Given the description of an element on the screen output the (x, y) to click on. 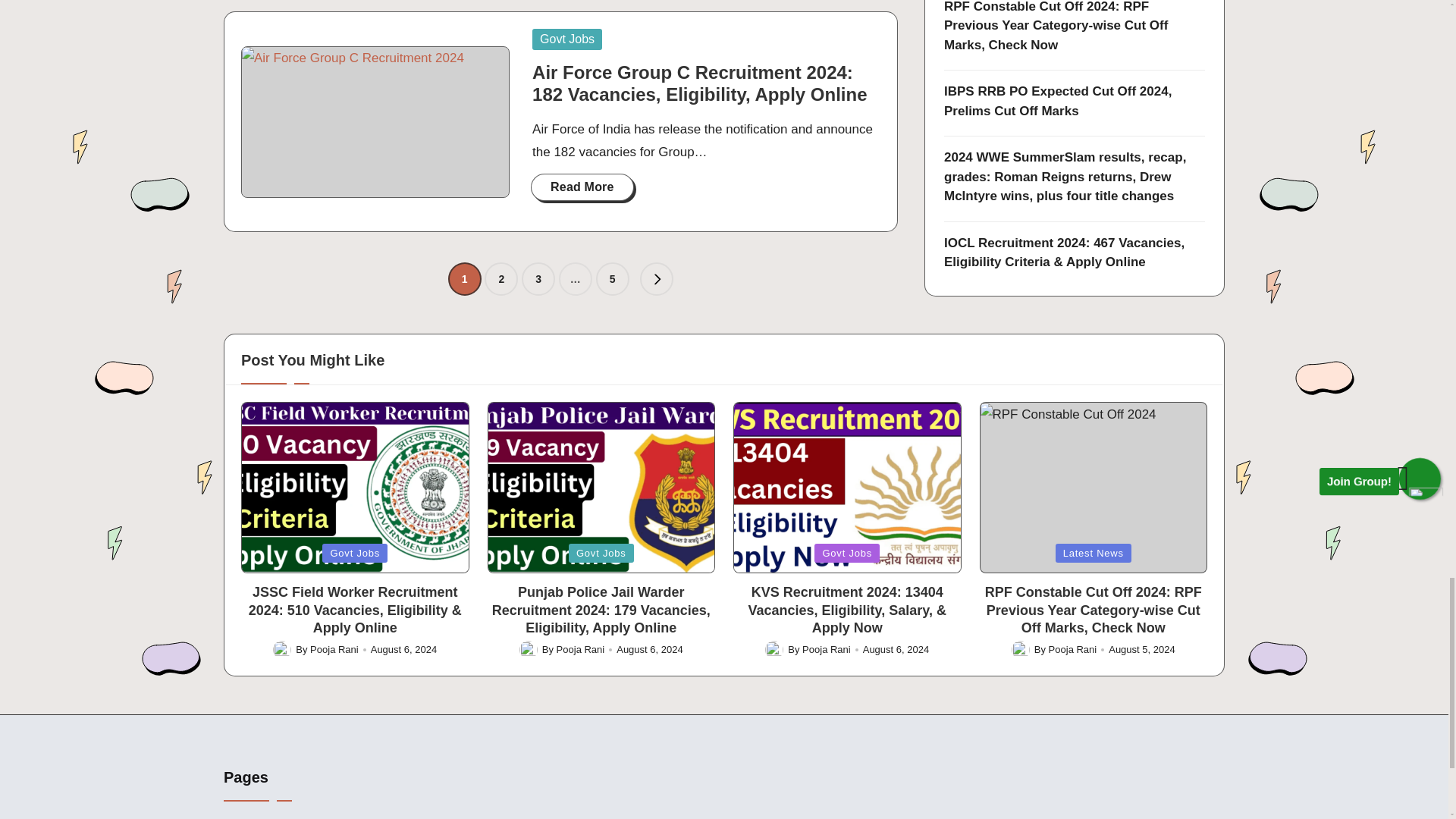
View all posts by Pooja Rani (1072, 649)
View all posts by Pooja Rani (826, 649)
View all posts by Pooja Rani (334, 649)
View all posts by Pooja Rani (580, 649)
